Given the description of an element on the screen output the (x, y) to click on. 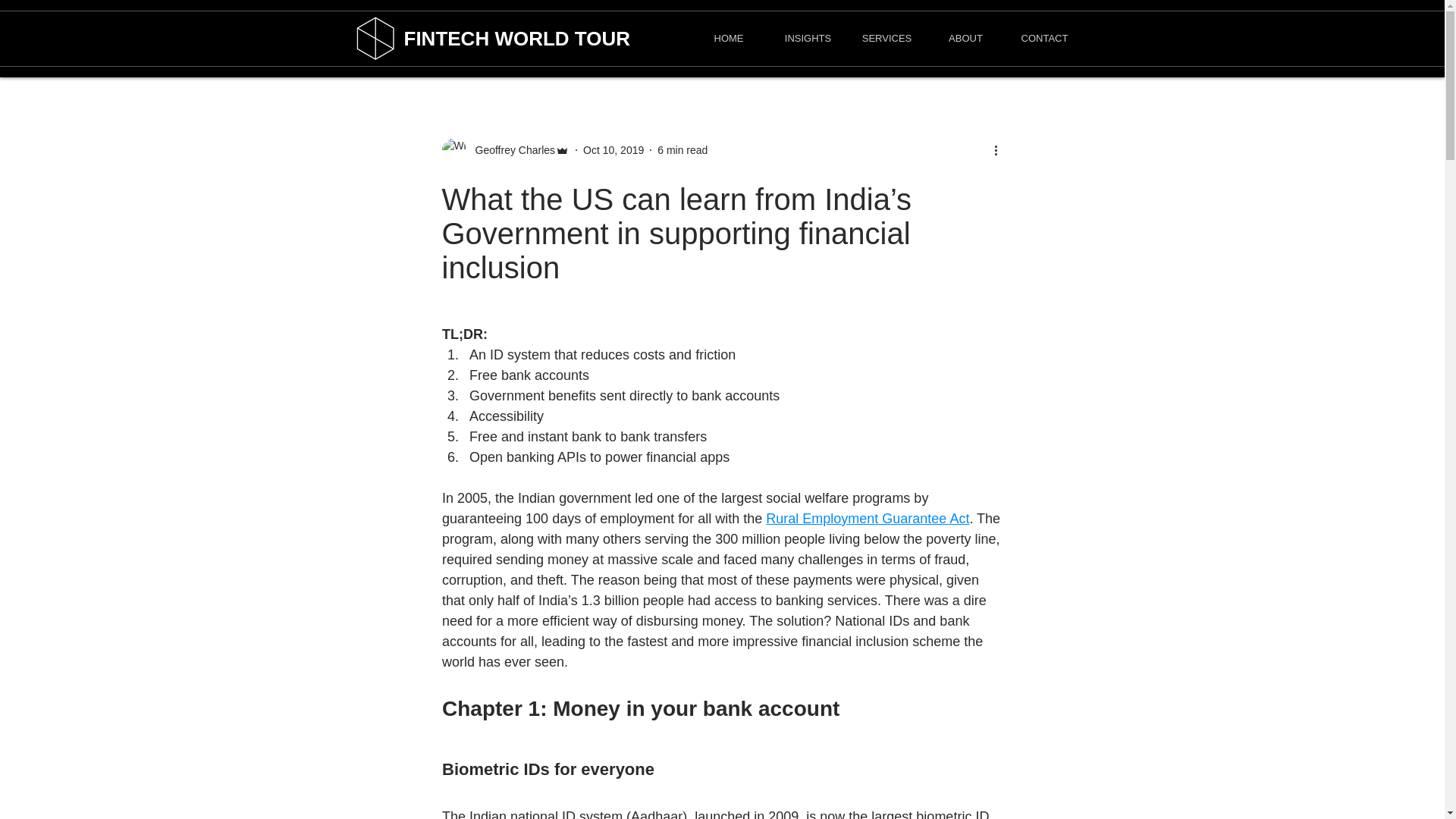
Geoffrey Charles (509, 150)
ABOUT (966, 38)
Oct 10, 2019 (613, 150)
CONTACT (1045, 38)
6 min read (682, 150)
FINTECH WORLD TOUR (516, 38)
HOME (728, 38)
SERVICES (886, 38)
INSIGHTS (807, 38)
Rural Employment Guarantee Act (867, 518)
